Given the description of an element on the screen output the (x, y) to click on. 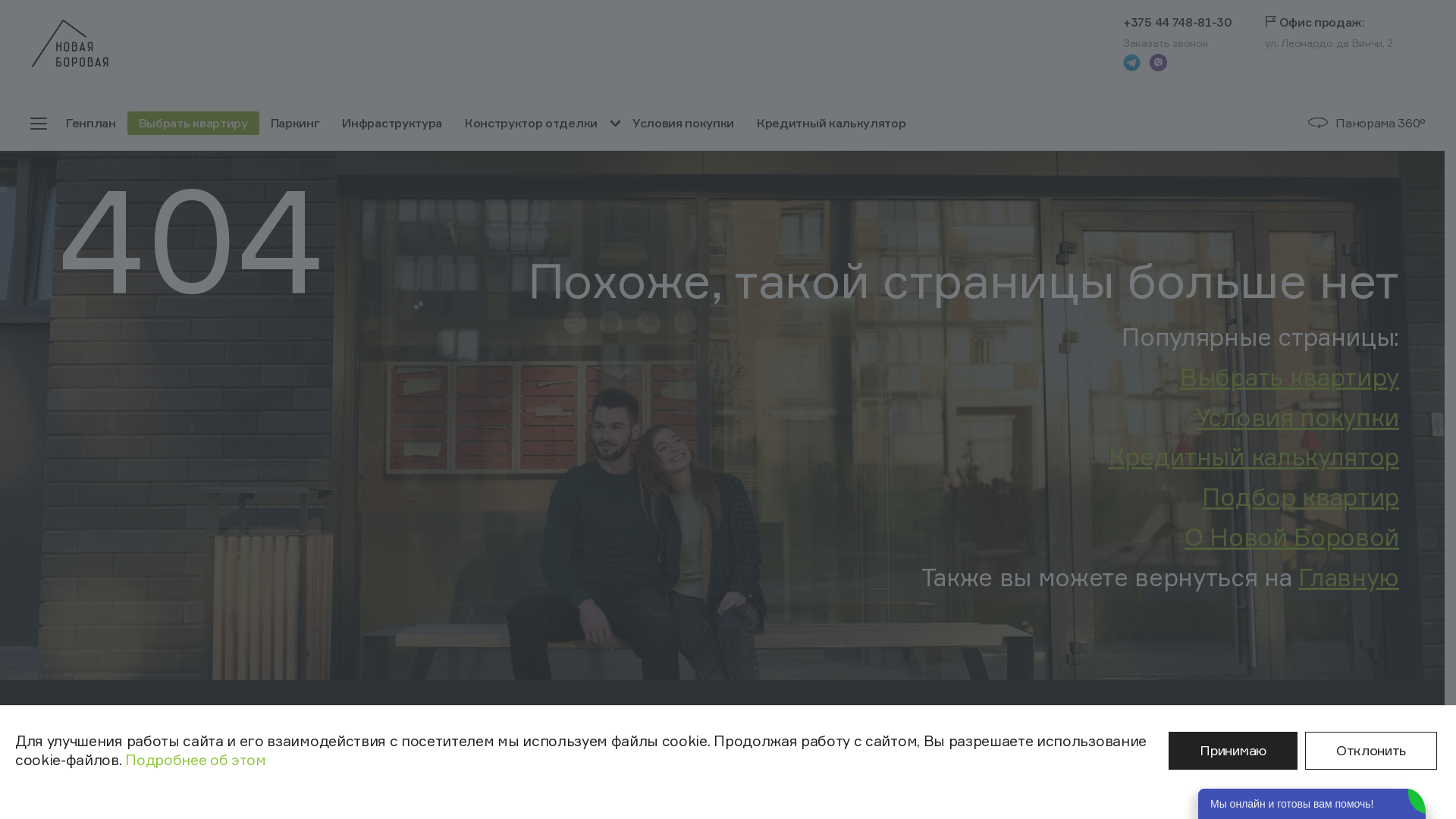
telegram Element type: hover (1131, 62)
+375 44 748-81-30 Element type: text (1177, 21)
viber Element type: hover (1158, 62)
